Given the description of an element on the screen output the (x, y) to click on. 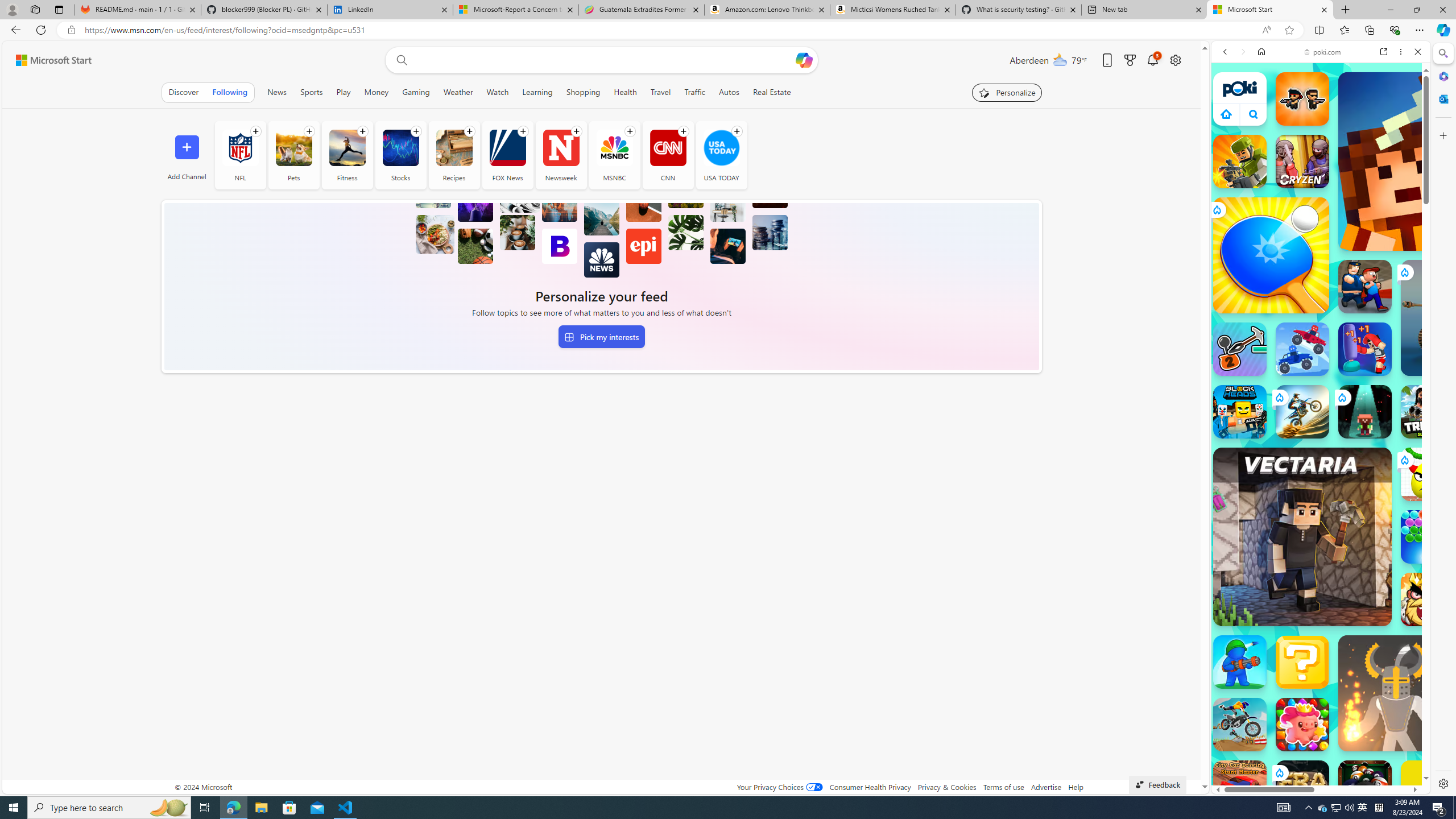
Zombie Rush (1302, 98)
FOX News (506, 155)
Hills of Steel Hills of Steel poki.com (1264, 548)
Gaming (415, 92)
Shopping (583, 92)
SEARCH TOOLS (1350, 130)
Mostly cloudy (1059, 59)
